Given the description of an element on the screen output the (x, y) to click on. 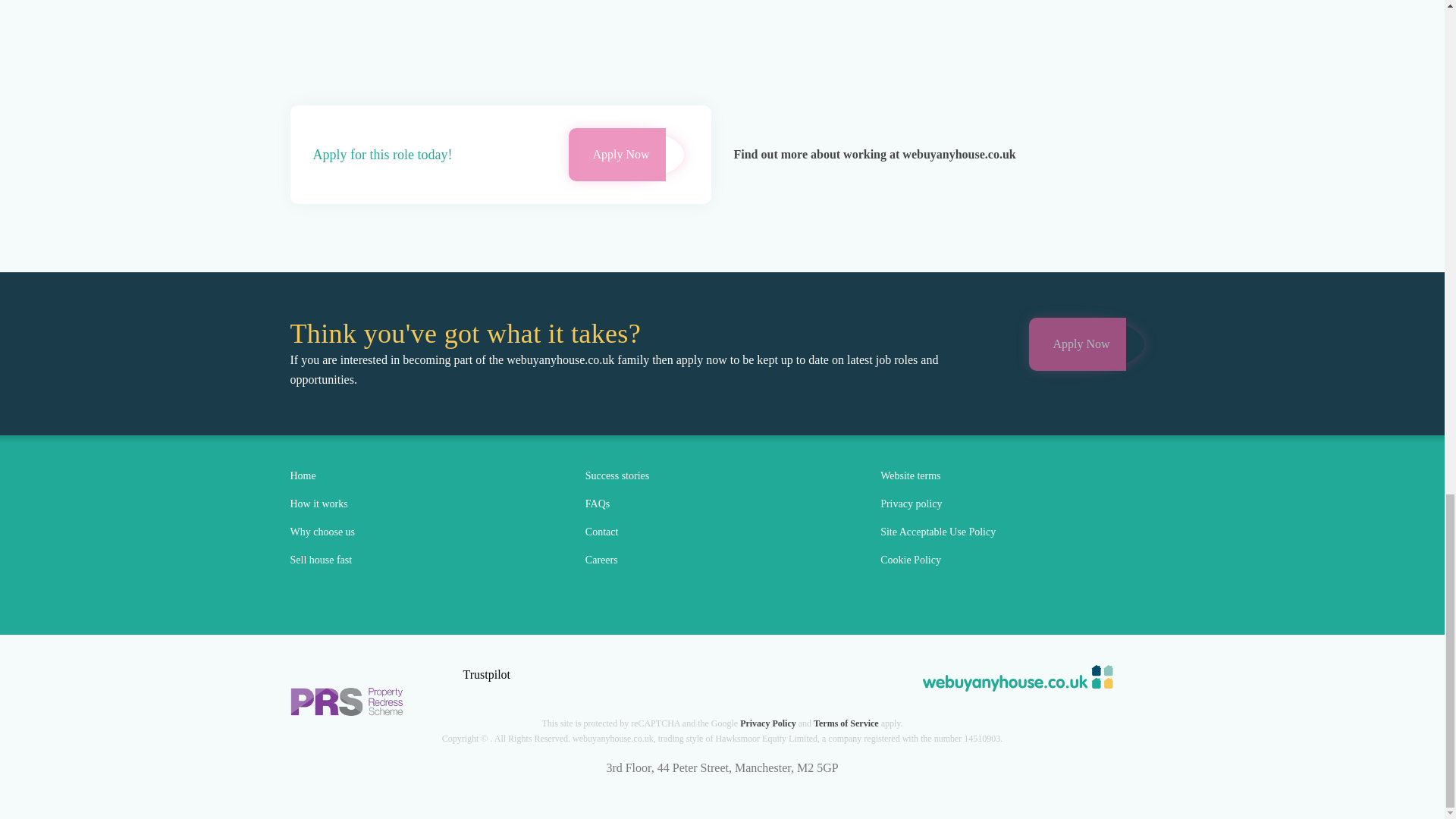
Home (302, 476)
Apply Now (617, 153)
Success stories (617, 476)
FAQs (597, 504)
Apply Now (1077, 344)
Sell house fast (320, 560)
Website terms (910, 476)
Careers (601, 560)
How it works (318, 504)
Why choose us (322, 532)
